Given the description of an element on the screen output the (x, y) to click on. 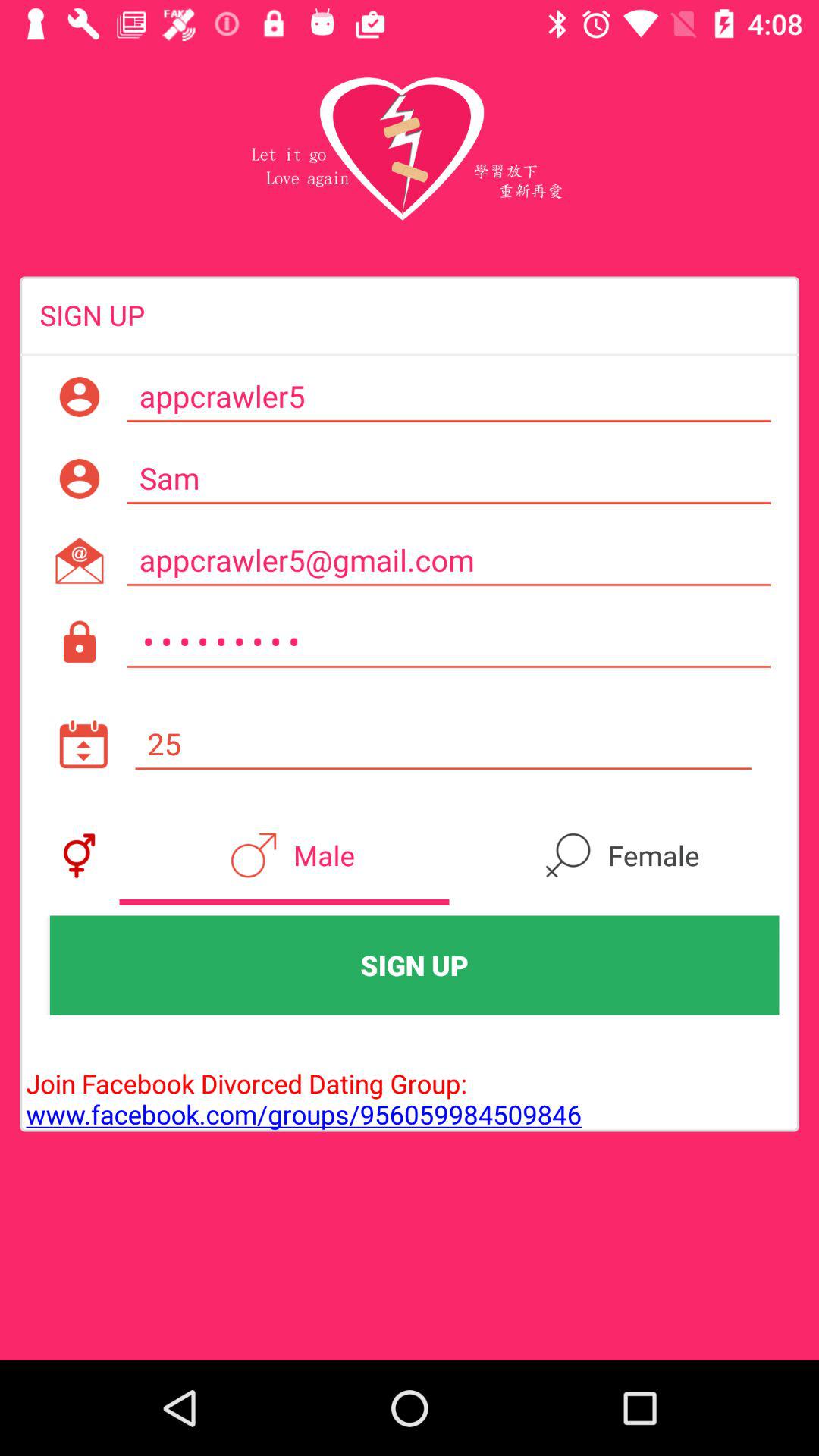
jump to the 25 icon (443, 744)
